Given the description of an element on the screen output the (x, y) to click on. 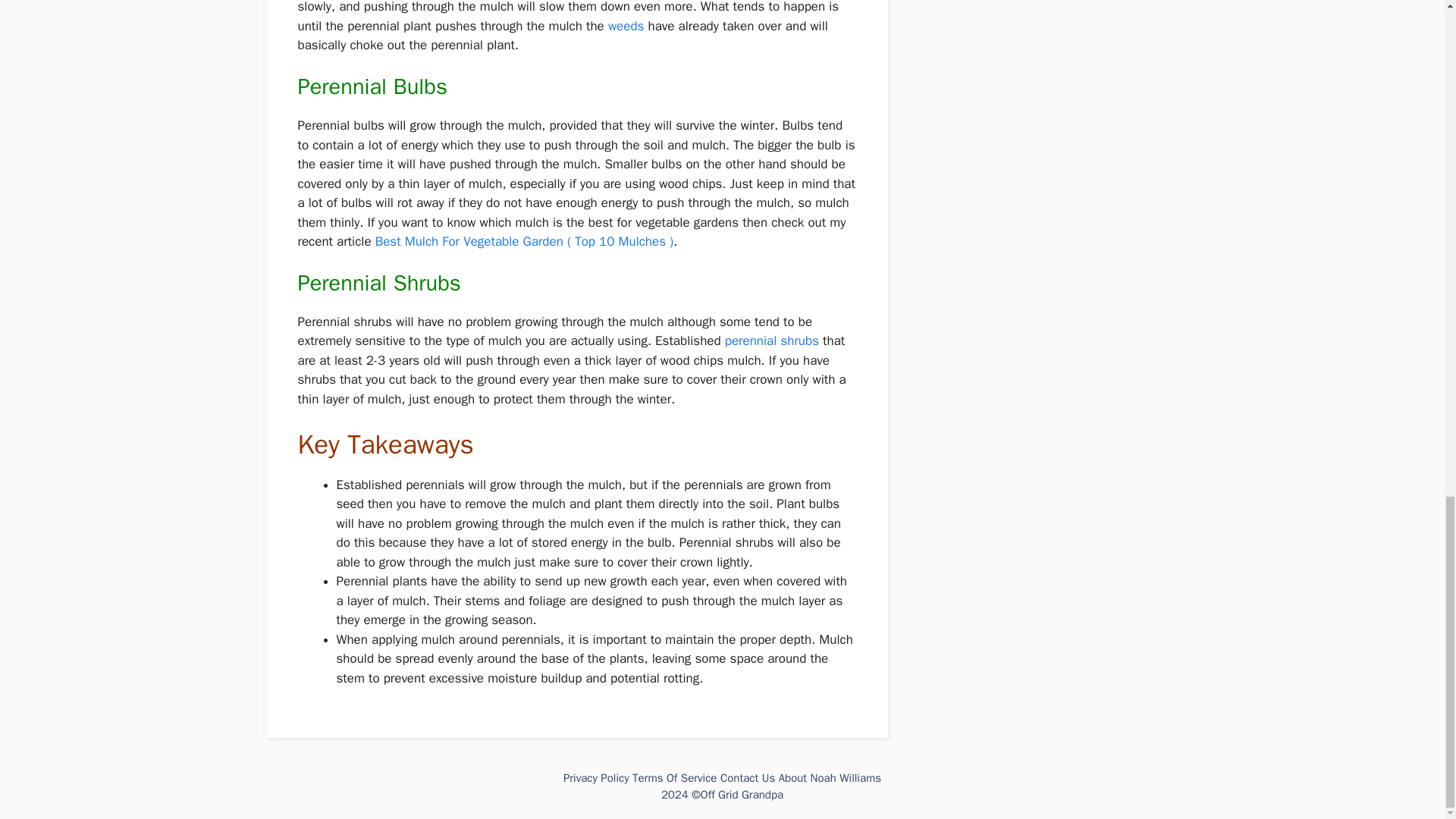
Privacy Policy (595, 777)
weeds (626, 26)
perennial shrubs (771, 340)
